Given the description of an element on the screen output the (x, y) to click on. 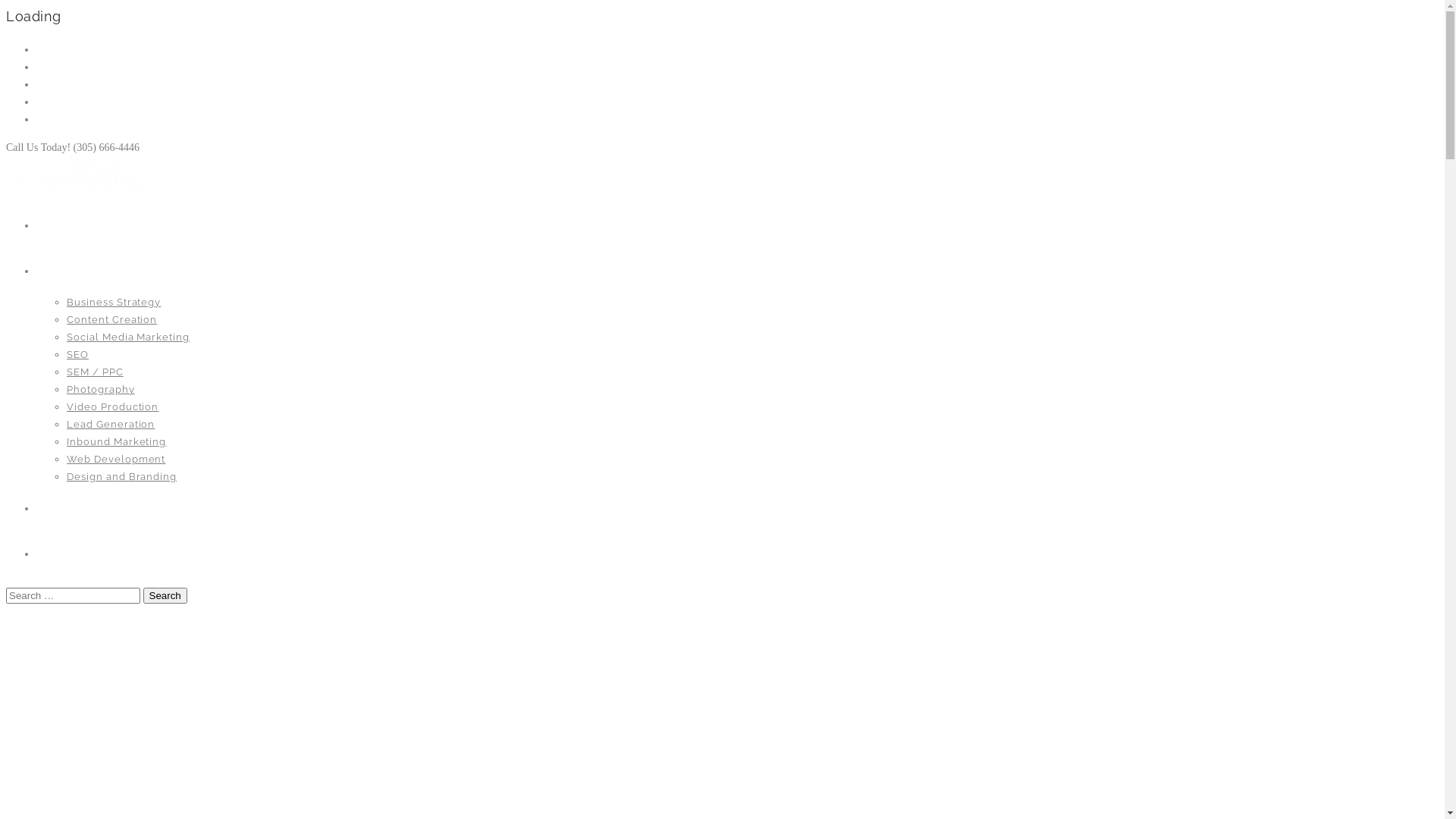
Web Development Element type: text (115, 458)
Design and Branding Element type: text (121, 476)
Lead Generation Element type: text (110, 423)
Social Media Marketing Element type: text (127, 336)
Search Element type: text (164, 595)
About Element type: text (54, 508)
Business Strategy Element type: text (113, 301)
Inbound Marketing Element type: text (116, 441)
Contact Element type: text (60, 553)
Content Creation Element type: text (111, 319)
Services Element type: text (62, 270)
SEM / PPC Element type: text (94, 371)
Home Element type: text (53, 225)
Video Production Element type: text (112, 406)
Photography Element type: text (100, 389)
SEO Element type: text (77, 354)
